Given the description of an element on the screen output the (x, y) to click on. 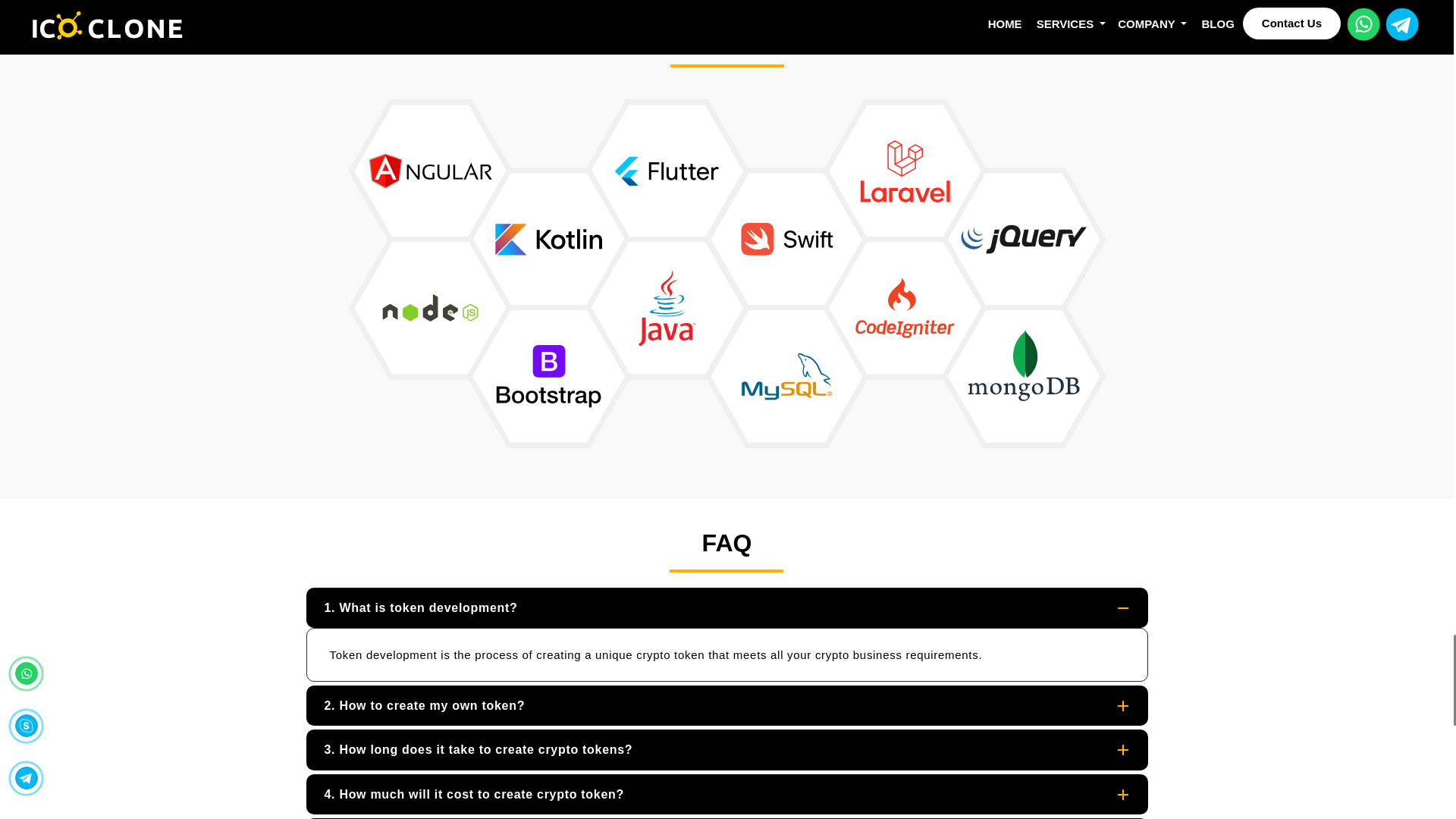
1. What is token development? (726, 608)
3. How long does it take to create crypto tokens? (726, 749)
2. How to create my own token? (726, 705)
4. How much will it cost to create crypto token? (726, 793)
